Given the description of an element on the screen output the (x, y) to click on. 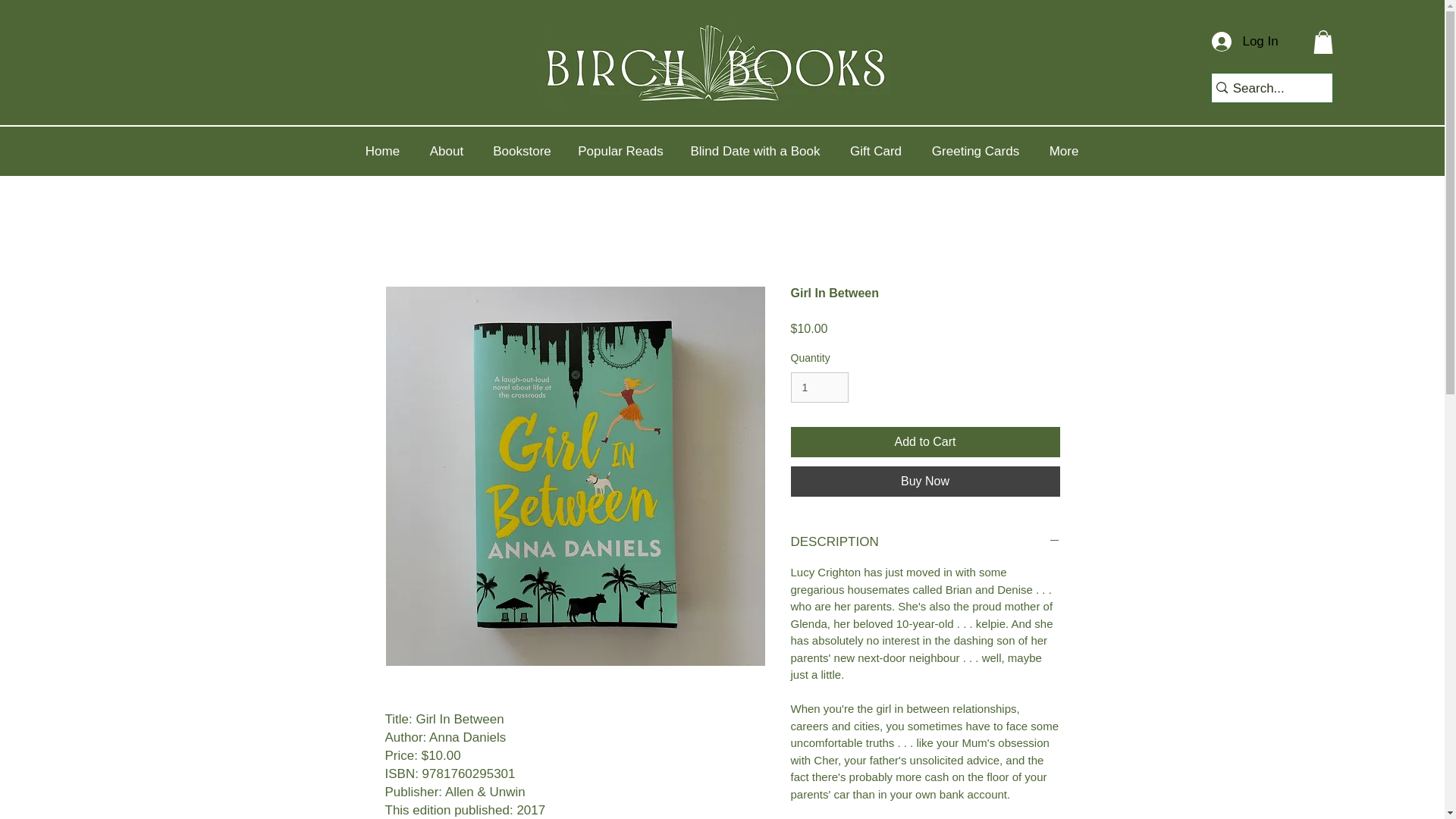
Bookstore (522, 151)
DESCRIPTION (924, 542)
Add to Cart (924, 441)
Log In (1237, 41)
Popular Reads (621, 151)
Buy Now (924, 481)
Blind Date with a Book (755, 151)
1 (818, 387)
Home (381, 151)
Gift Card (875, 151)
About (446, 151)
Greeting Cards (975, 151)
